Given the description of an element on the screen output the (x, y) to click on. 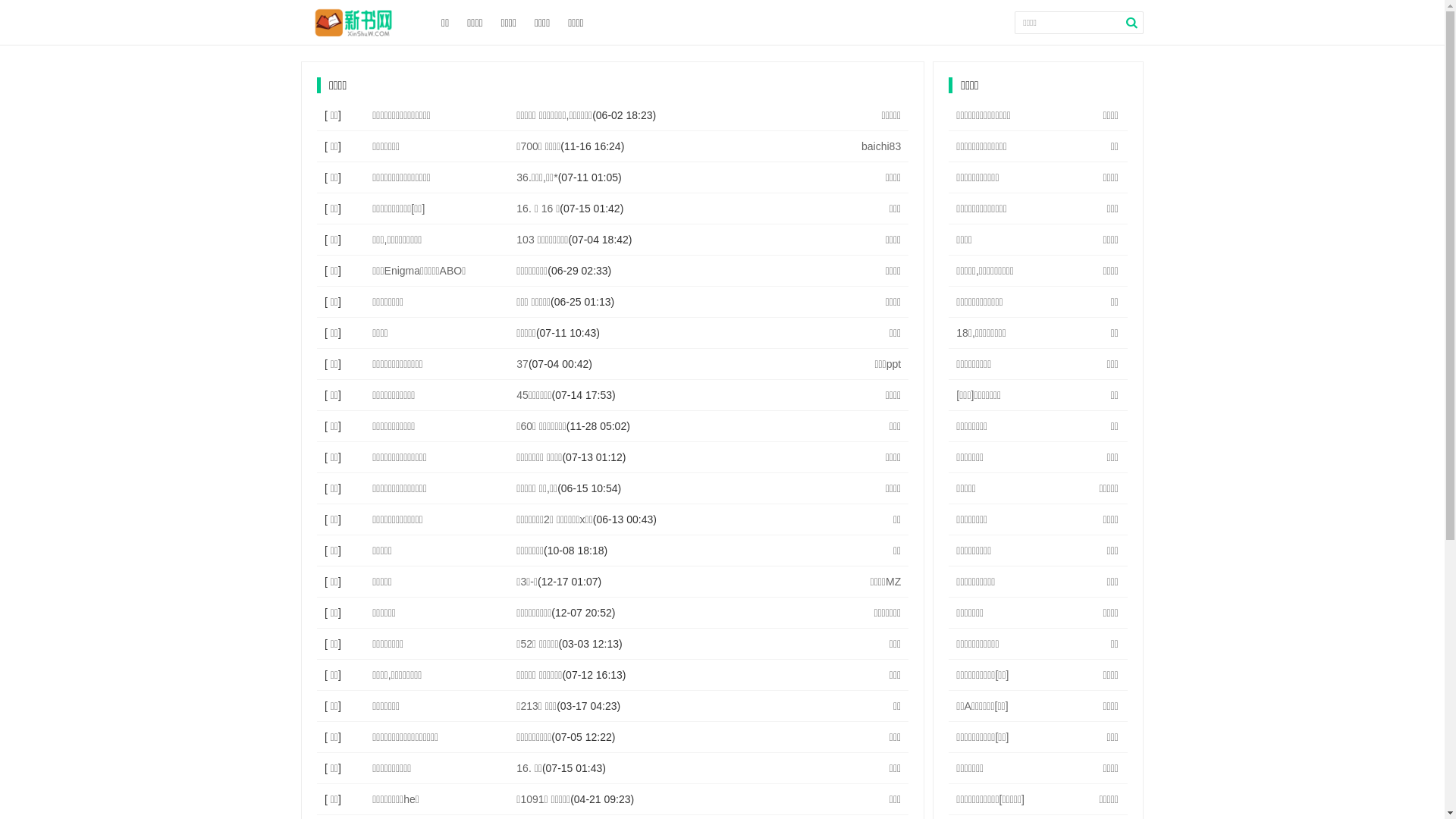
37 Element type: text (522, 363)
baichi83 Element type: text (880, 146)
